Given the description of an element on the screen output the (x, y) to click on. 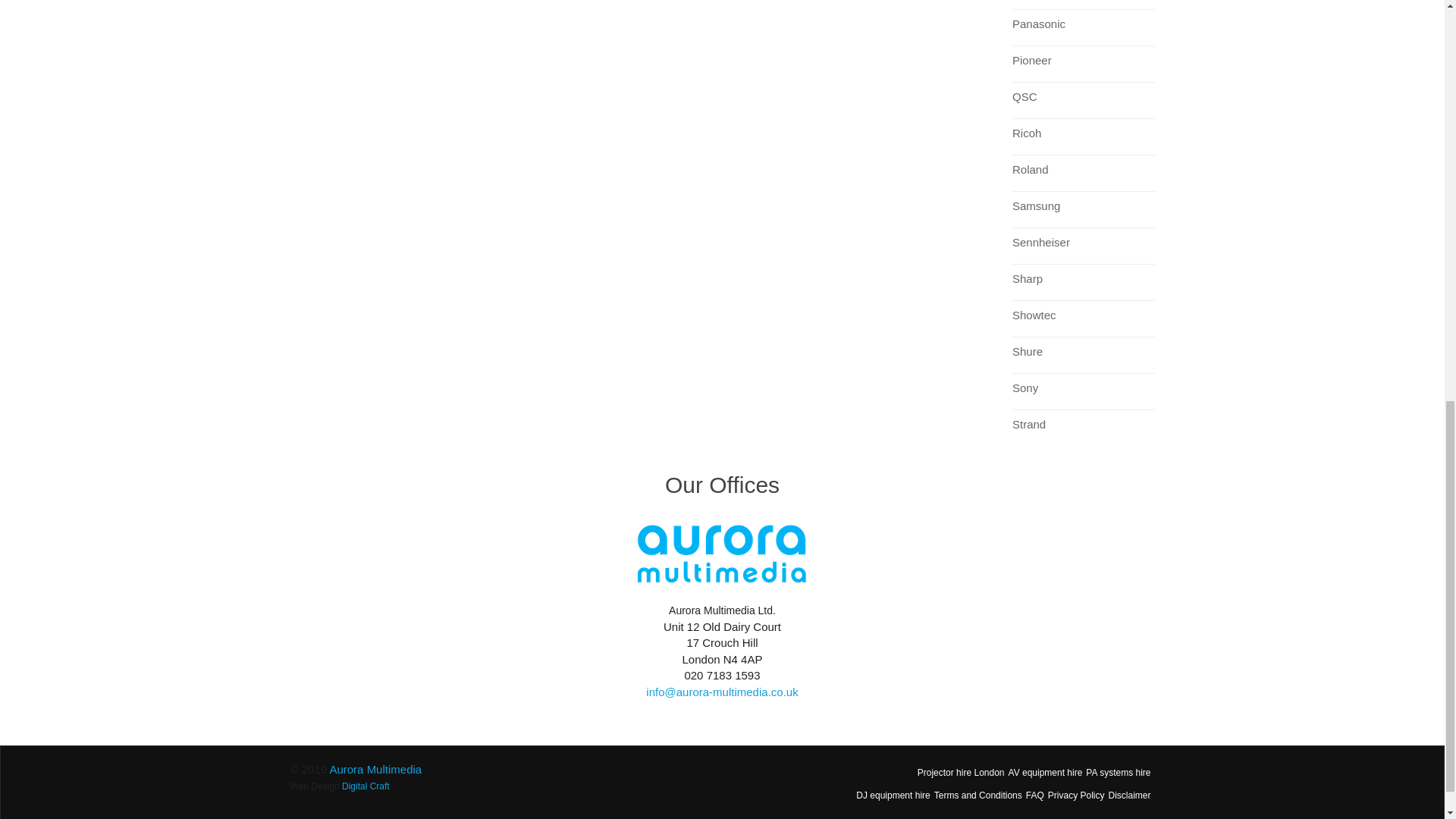
AV equipment Hire London (1046, 772)
Aurora Multimedia (375, 768)
DJ equipment Hire London (893, 794)
PA systems Hire London (1118, 772)
projector hire london (960, 772)
